Given the description of an element on the screen output the (x, y) to click on. 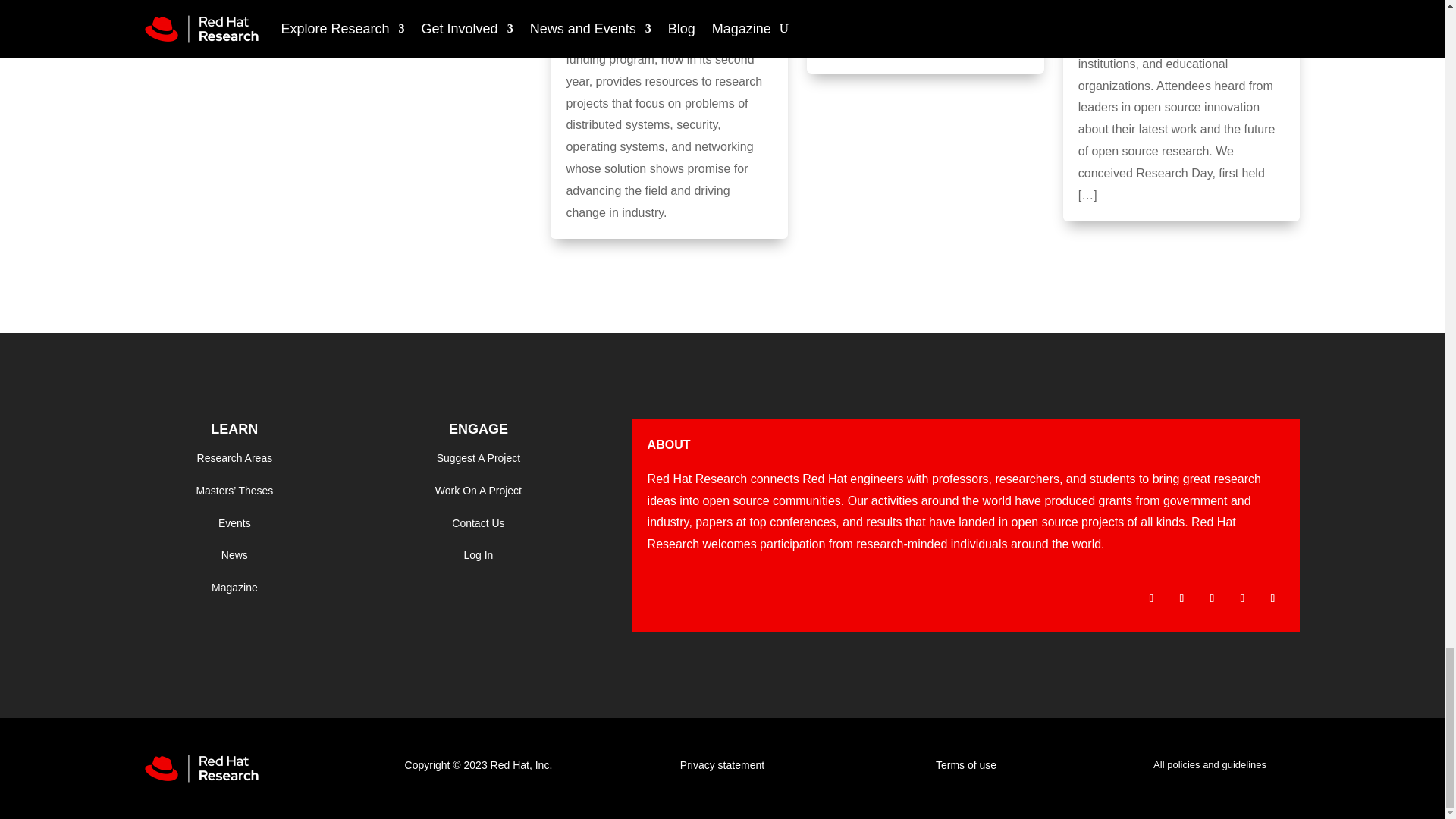
Follow on LinkedIn (1272, 598)
Follow on Instagram (1211, 598)
Follow on Twitter (1181, 598)
Follow on Youtube (1241, 598)
Follow on Facebook (1150, 598)
